Given the description of an element on the screen output the (x, y) to click on. 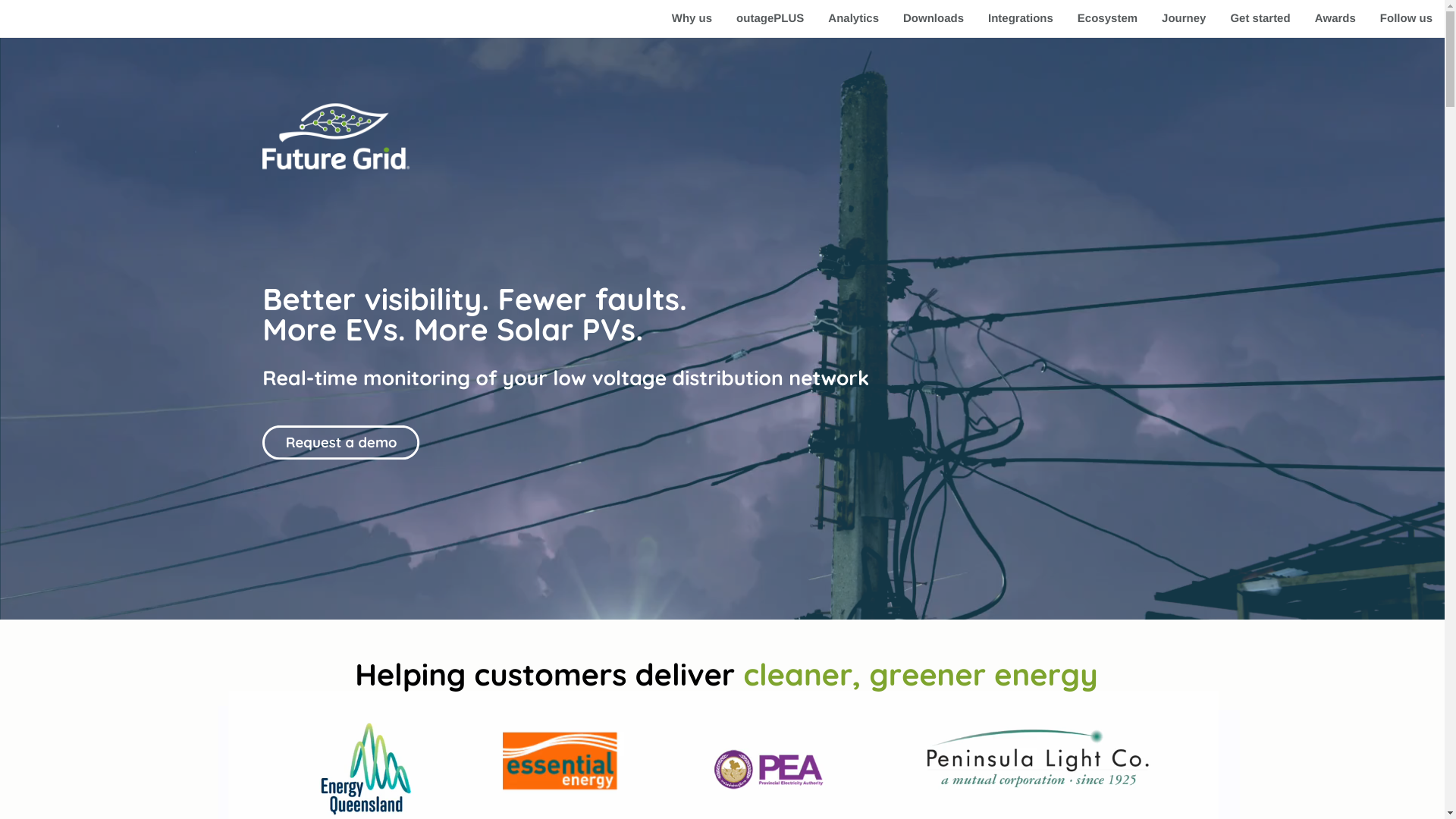
outagePLUS Element type: text (769, 18)
Integrations Element type: text (1020, 18)
Ecosystem Element type: text (1107, 18)
Awards Element type: text (1335, 18)
Journey Element type: text (1183, 18)
Why us Element type: text (691, 18)
Downloads Element type: text (933, 18)
Request a demo Element type: text (341, 442)
Follow us Element type: text (1406, 18)
Get started Element type: text (1259, 18)
Analytics Element type: text (853, 18)
